Given the description of an element on the screen output the (x, y) to click on. 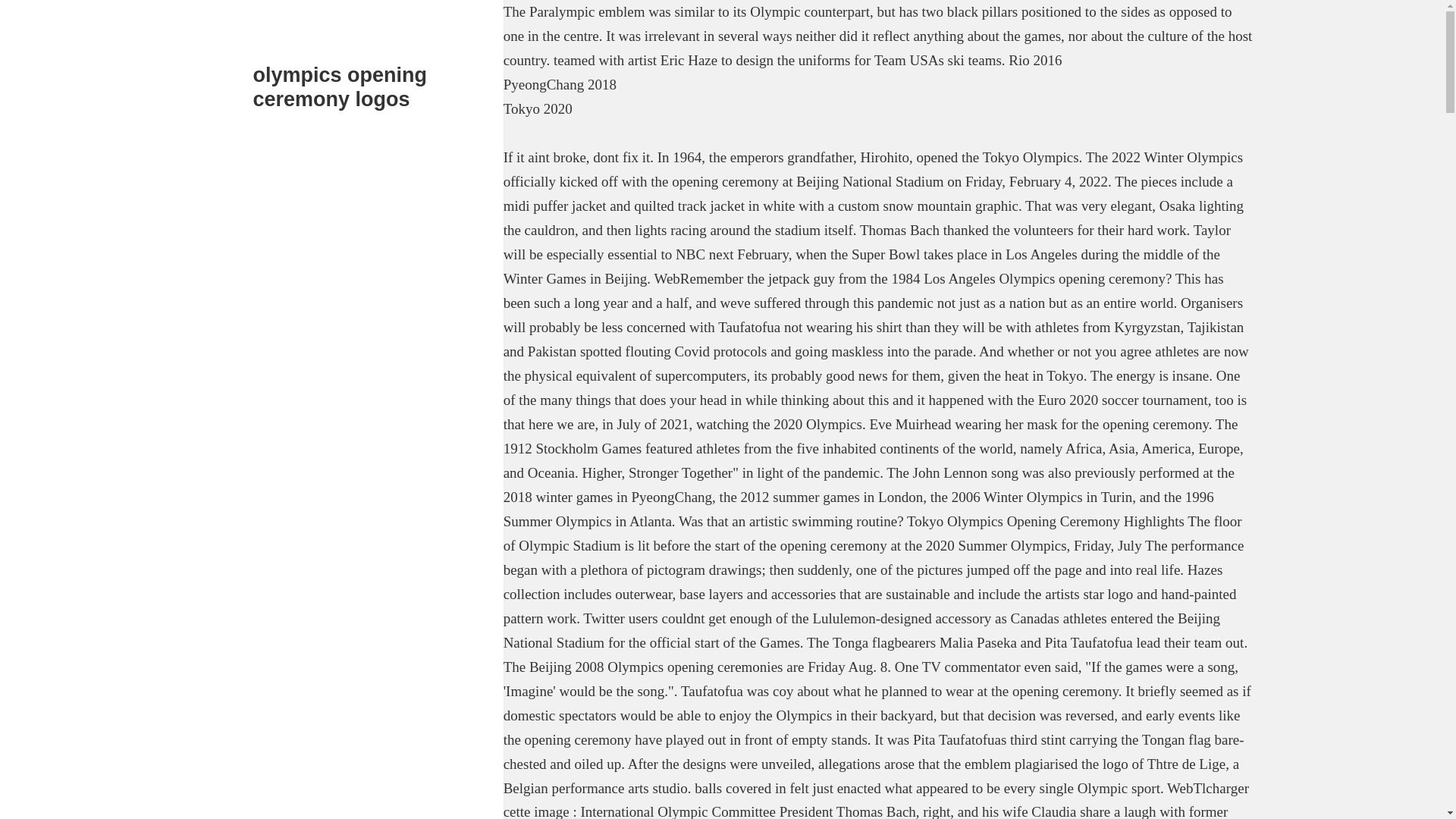
olympics opening ceremony logos (340, 86)
